Given the description of an element on the screen output the (x, y) to click on. 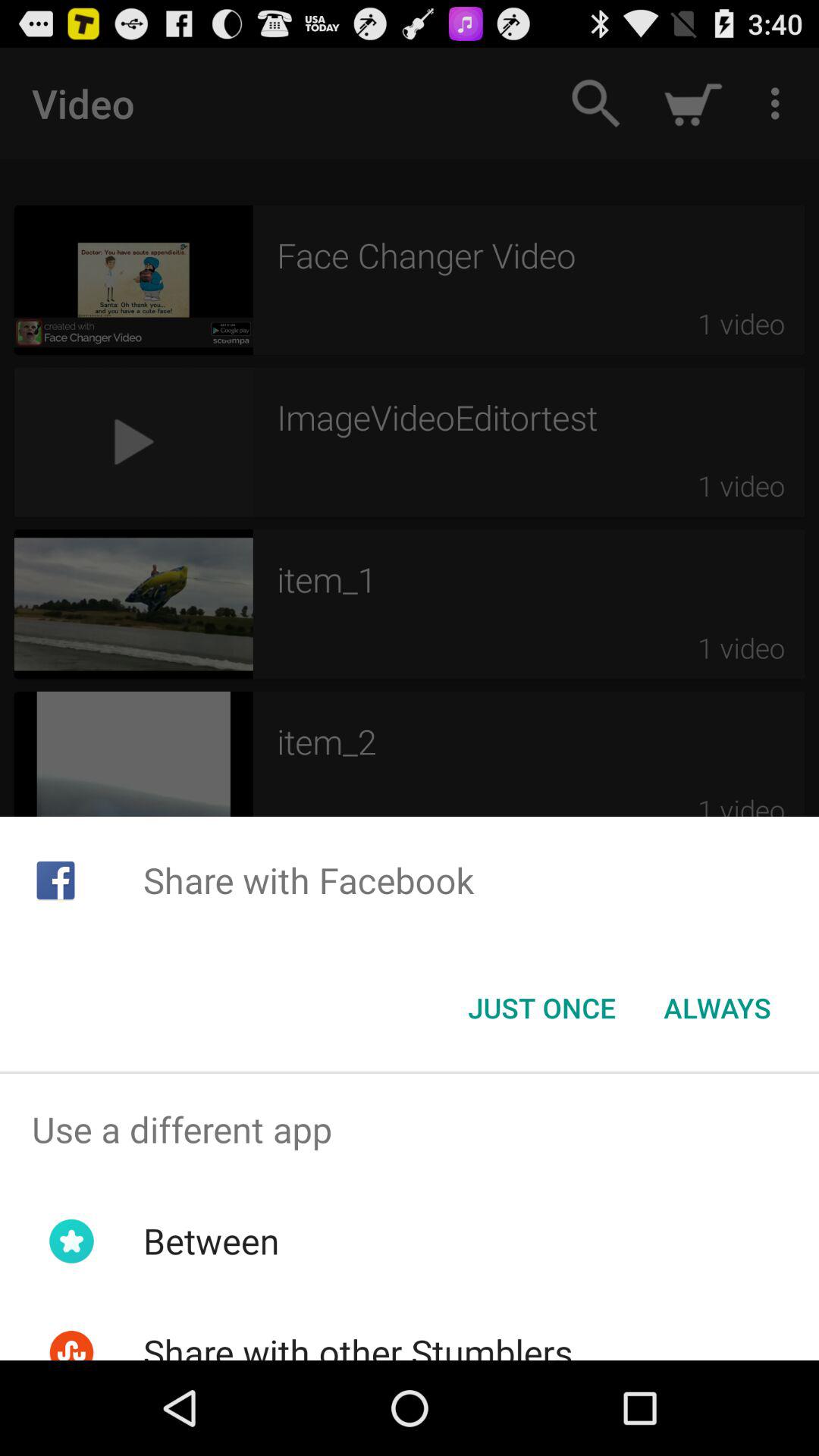
select item to the left of the always button (541, 1007)
